Given the description of an element on the screen output the (x, y) to click on. 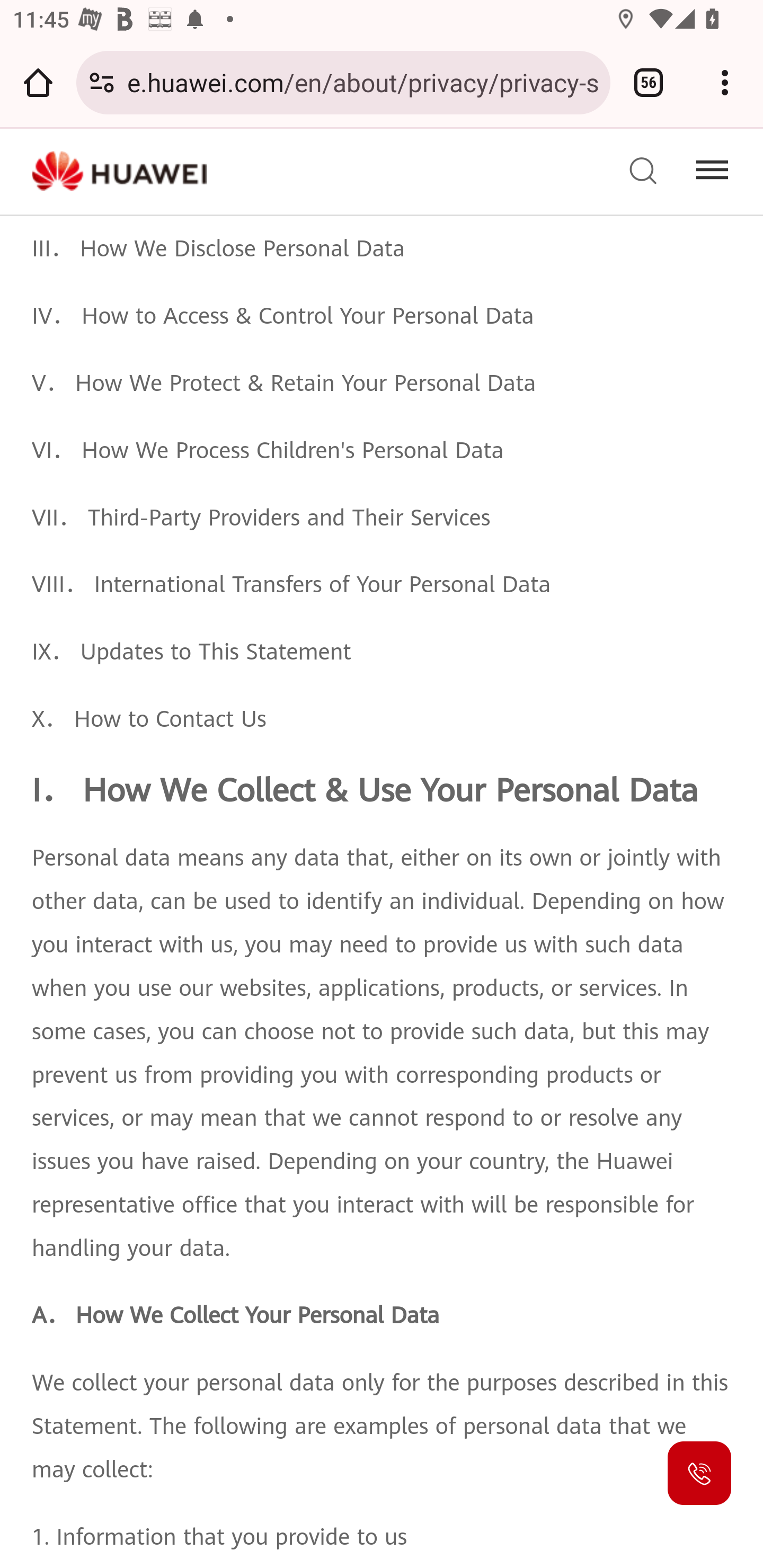
Open the home page (38, 82)
Connection is secure (101, 82)
Switch or close tabs (648, 82)
Customize and control Google Chrome (724, 82)
e.huawei.com/en/about/privacy/privacy-statement (362, 82)
